Given the description of an element on the screen output the (x, y) to click on. 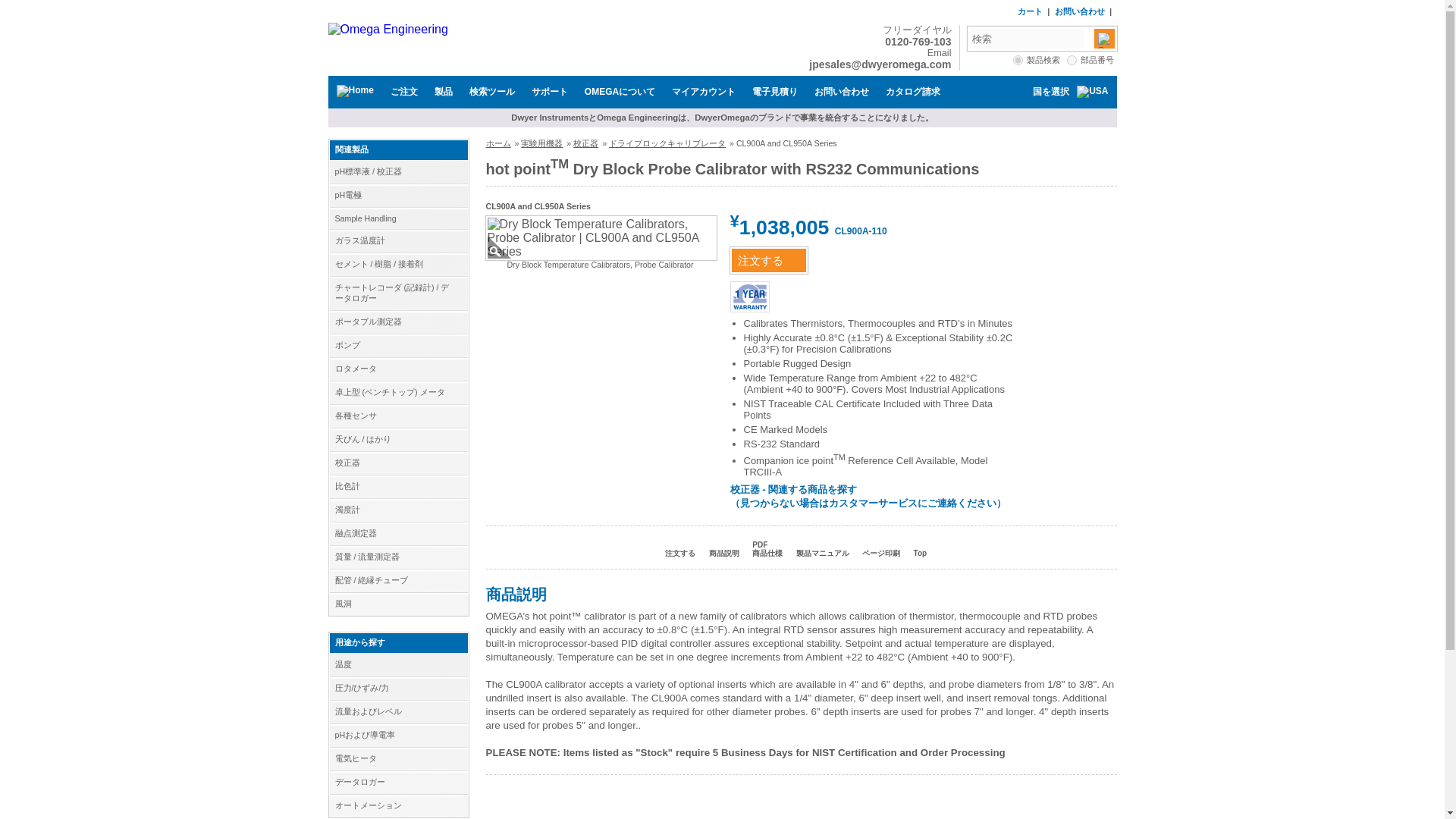
Sample Handling (398, 218)
pn (1072, 60)
allomega (1018, 60)
